Given the description of an element on the screen output the (x, y) to click on. 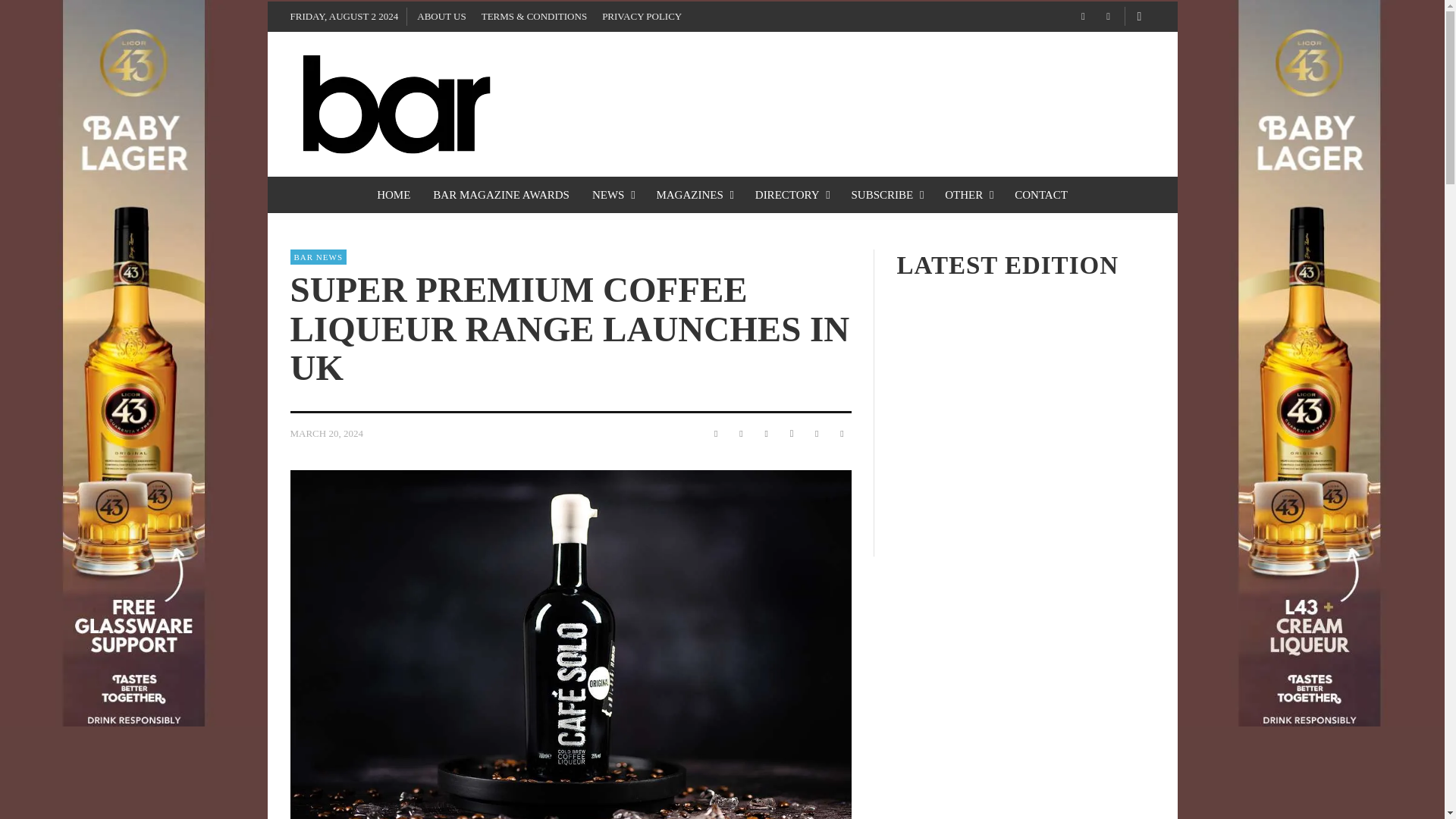
PRIVACY POLICY (641, 16)
View all posts in Bar News (317, 256)
BAR MAGAZINE AWARDS (501, 194)
HOME (393, 194)
NEWS (612, 194)
ABOUT US (441, 16)
MAGAZINES (693, 194)
